Given the description of an element on the screen output the (x, y) to click on. 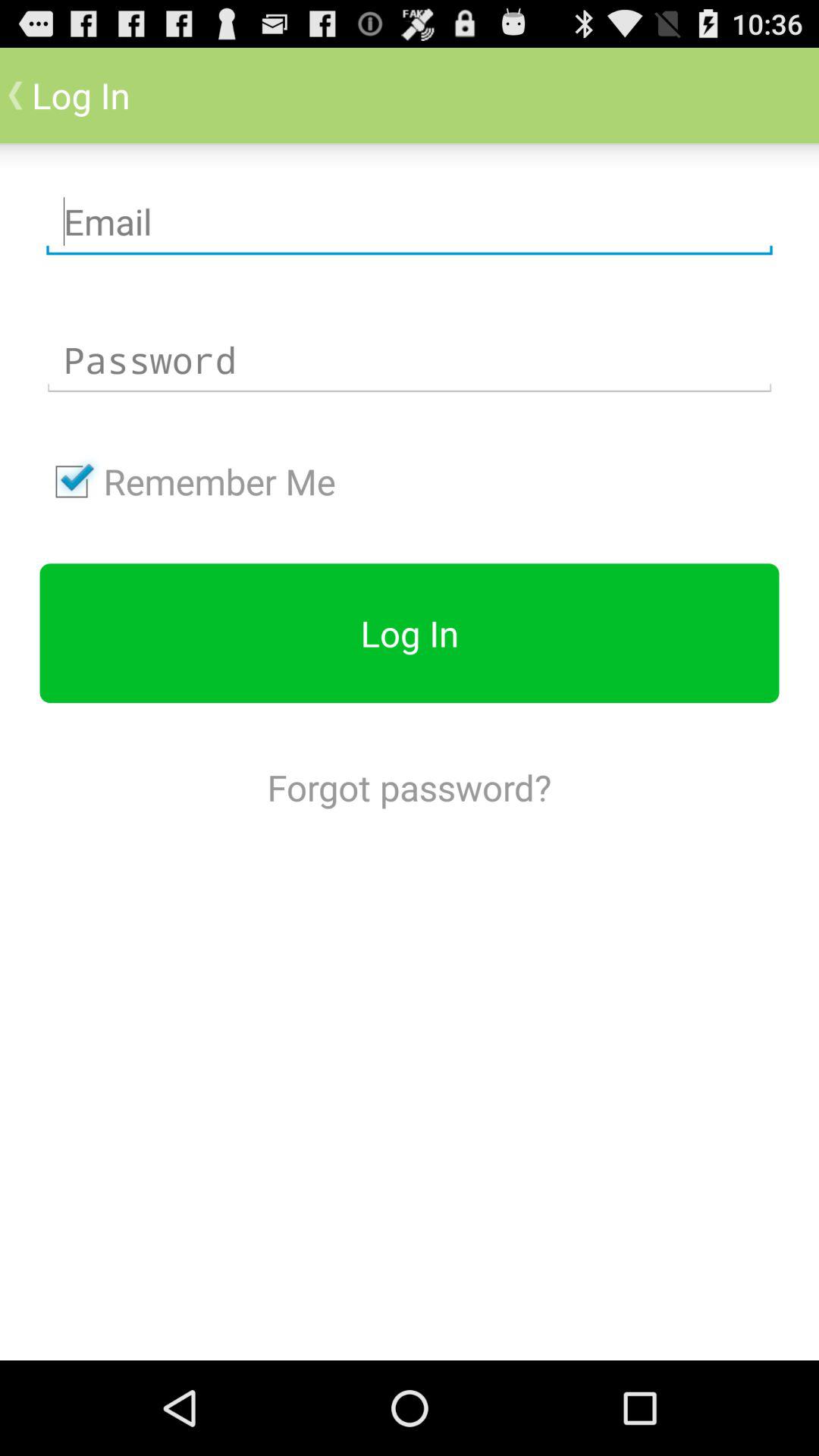
turn off remember me checkbox (187, 481)
